Given the description of an element on the screen output the (x, y) to click on. 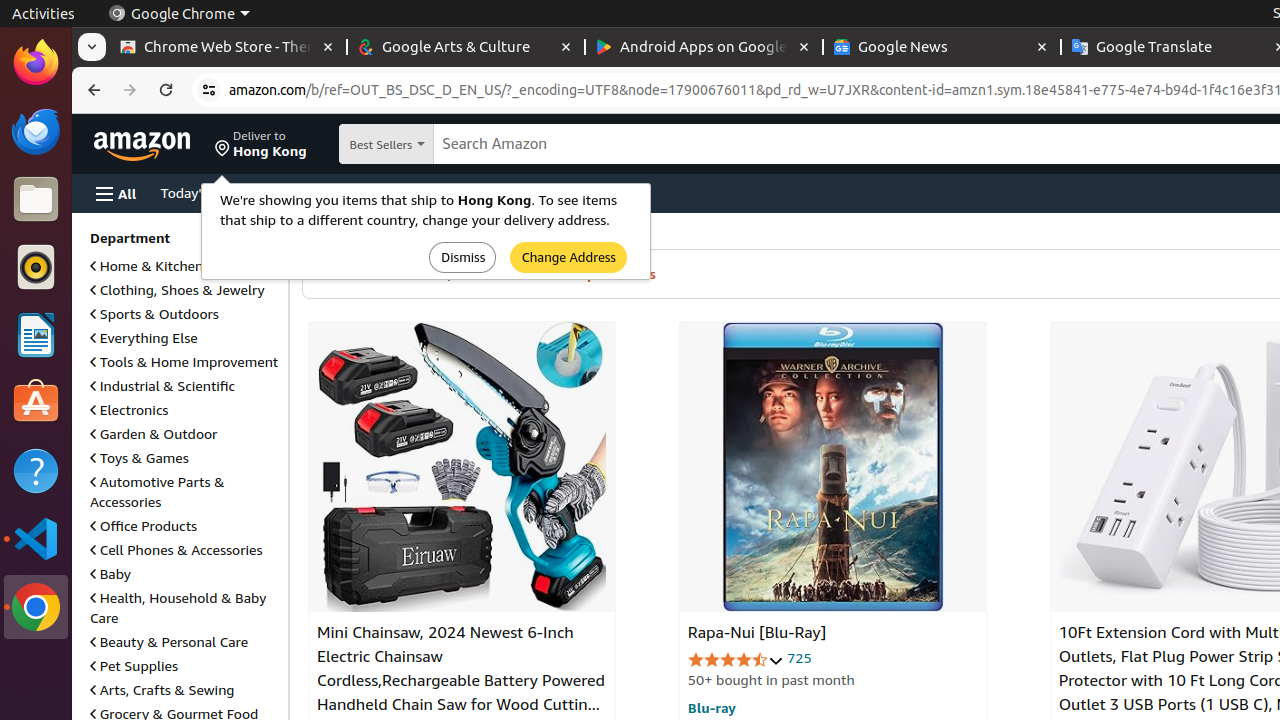
Forward Element type: push-button (130, 90)
Back Element type: push-button (91, 90)
Clothing, Shoes & Jewelry Element type: link (177, 289)
Google News - Memory usage - 49.2 MB Element type: page-tab (942, 47)
Best Sellers Element type: menu-item (401, 143)
